Given the description of an element on the screen output the (x, y) to click on. 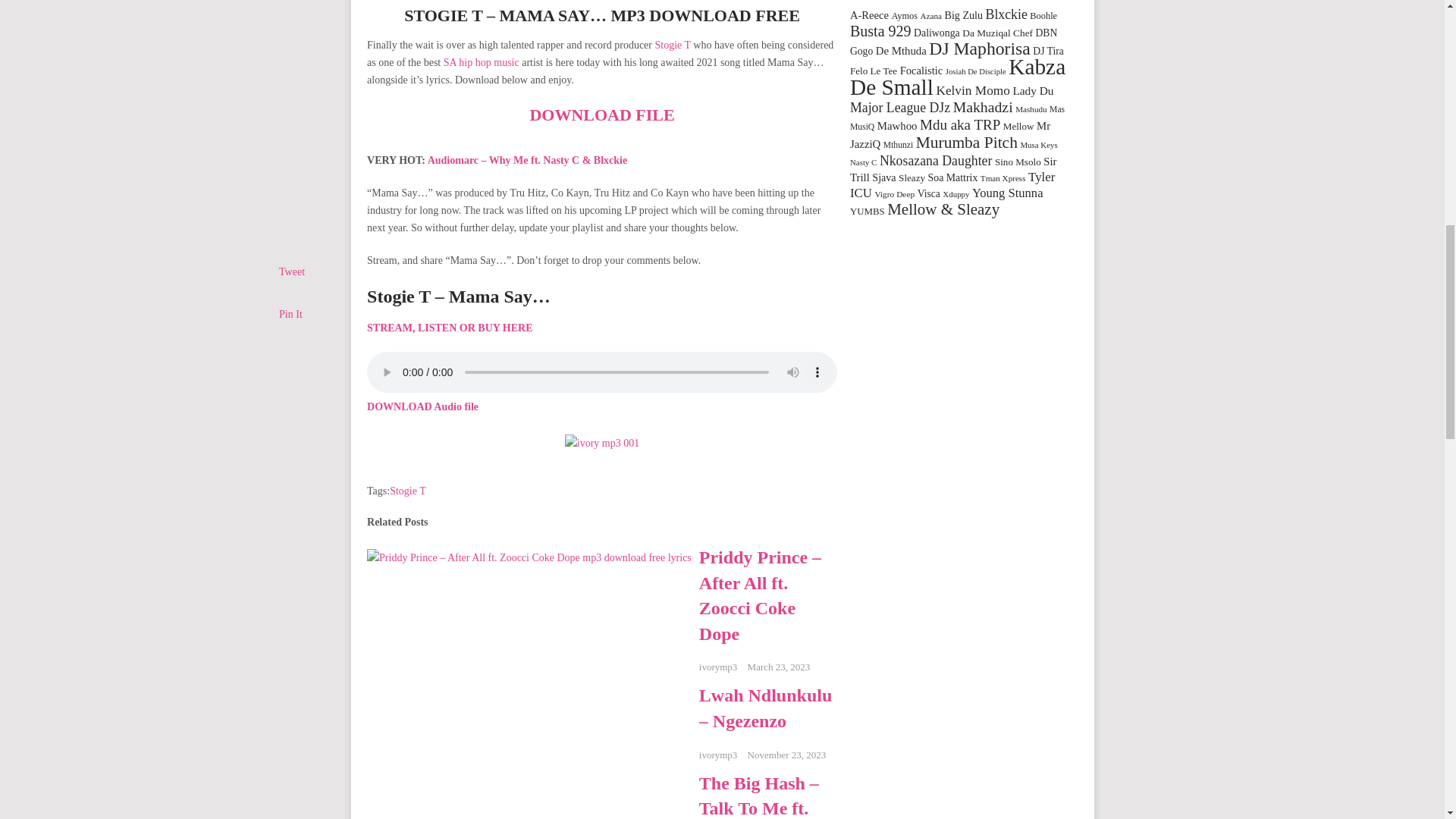
STREAM, LISTEN OR BUY HERE (449, 327)
Stogie T (671, 44)
Stogie T (408, 490)
DOWNLOAD FILE (601, 114)
DOWNLOAD Audio file (422, 406)
SA hip hop music (481, 61)
ivorymp3 (718, 666)
Posts by ivorymp3 (718, 666)
